Given the description of an element on the screen output the (x, y) to click on. 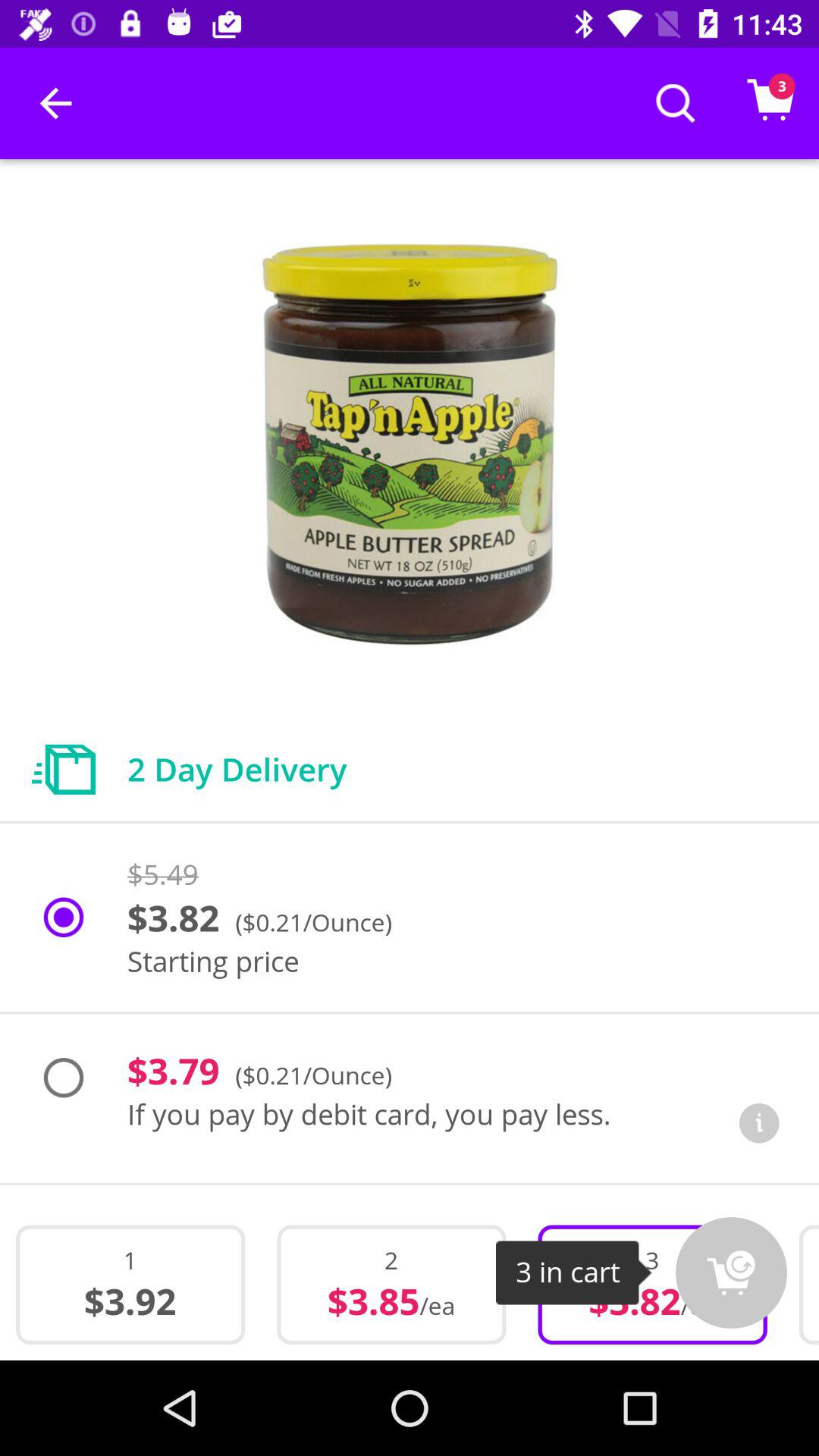
more information (759, 1123)
